Given the description of an element on the screen output the (x, y) to click on. 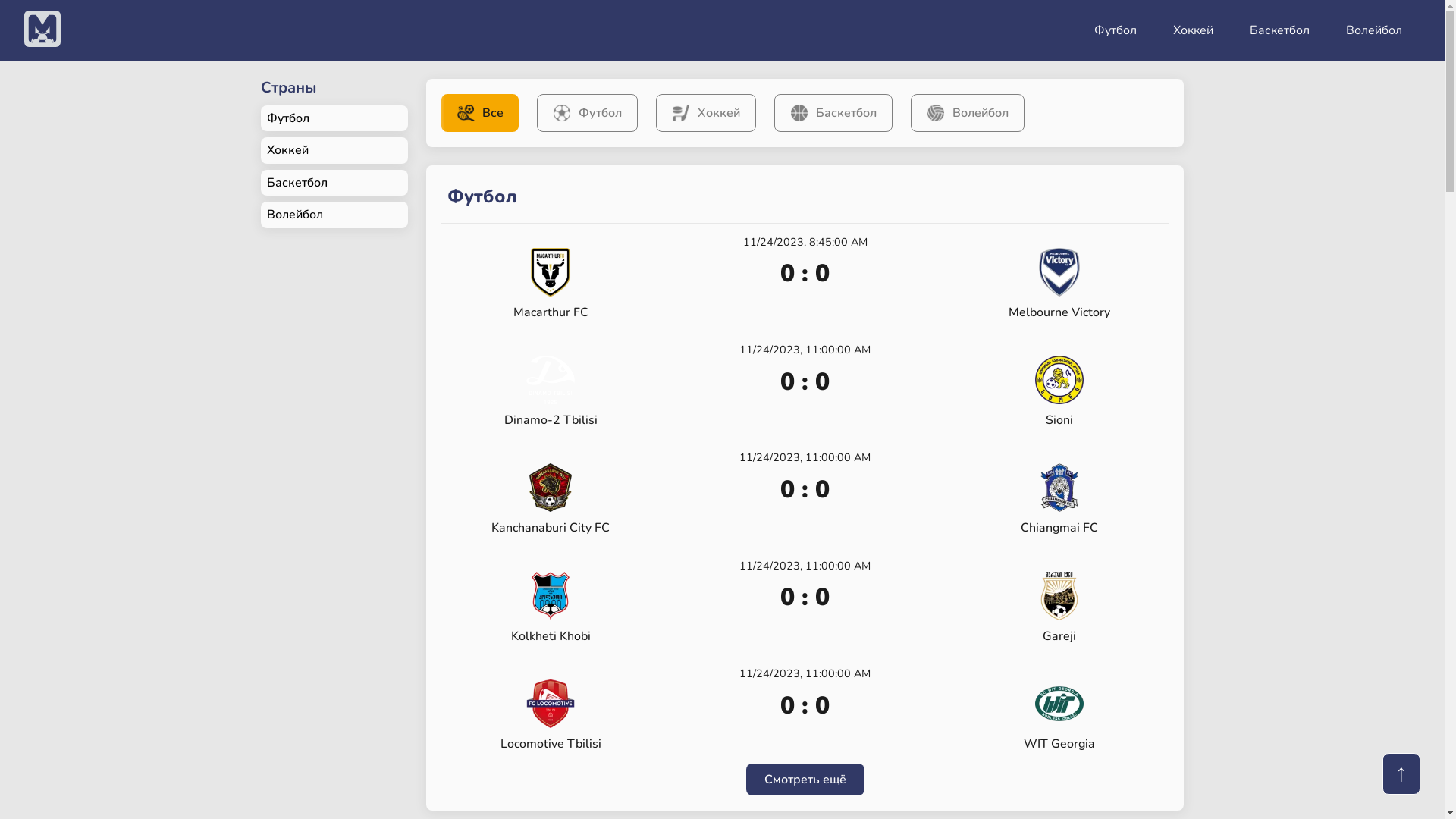
Kanchanaburi City FC Element type: text (550, 498)
11/24/2023, 8:45:00 AM
0 : 0 Element type: text (805, 277)
Chiangmai FC Element type: text (1059, 498)
Gareji Element type: text (1059, 607)
Sioni Element type: text (1059, 390)
11/24/2023, 11:00:00 AM
0 : 0 Element type: text (804, 601)
11/24/2023, 11:00:00 AM
0 : 0 Element type: text (804, 384)
Locomotive Tbilisi Element type: text (550, 714)
11/24/2023, 11:00:00 AM
0 : 0 Element type: text (804, 492)
Macarthur FC Element type: text (550, 283)
Melbourne Victory Element type: text (1059, 283)
11/24/2023, 11:00:00 AM
0 : 0 Element type: text (804, 708)
WIT Georgia Element type: text (1059, 714)
Dinamo-2 Tbilisi Element type: text (550, 390)
Kolkheti Khobi Element type: text (550, 607)
